Given the description of an element on the screen output the (x, y) to click on. 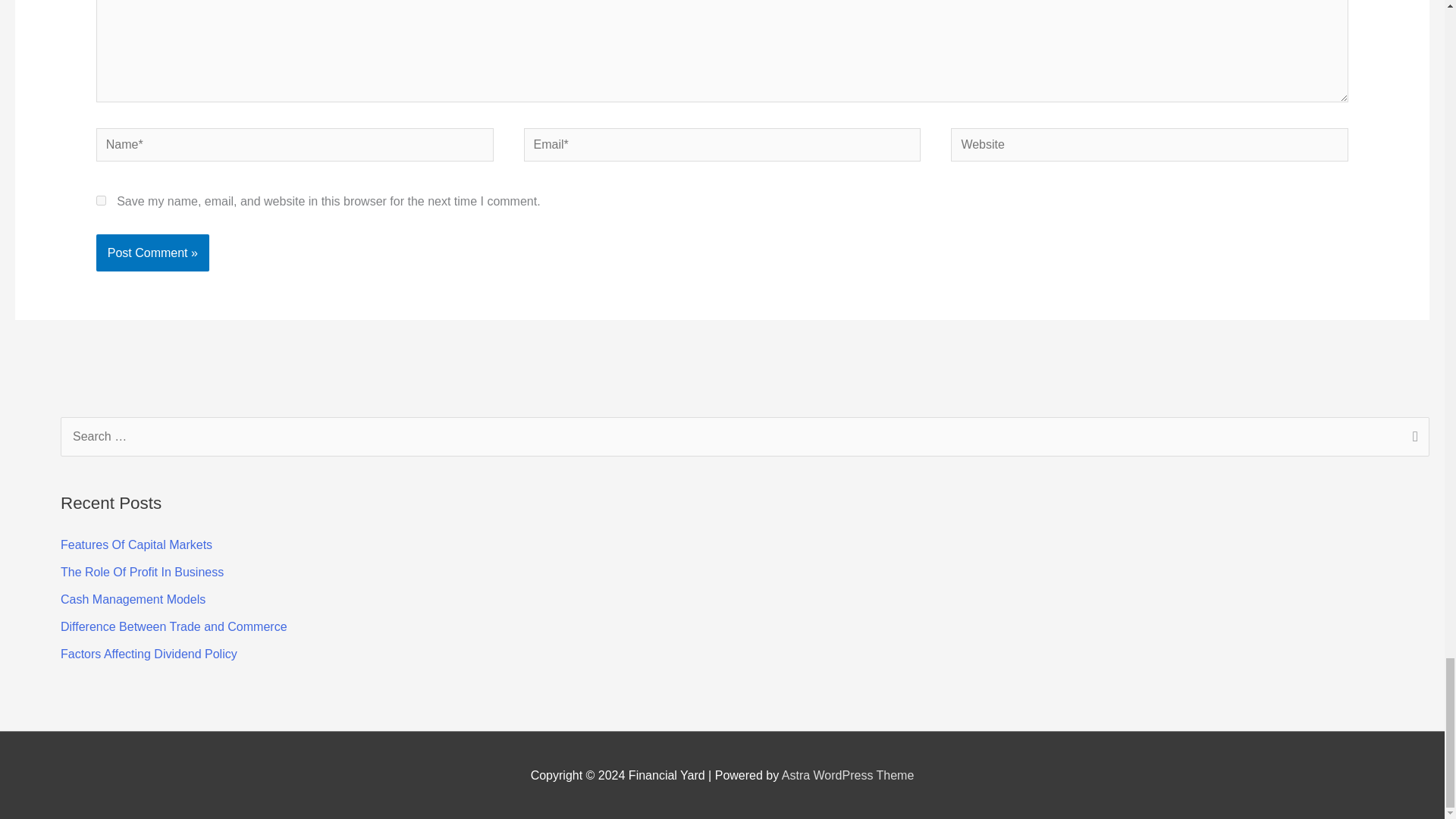
Astra WordPress Theme (847, 775)
Difference Between Trade and Commerce (173, 626)
yes (101, 200)
Features Of Capital Markets (136, 544)
Factors Affecting Dividend Policy (149, 653)
The Role Of Profit In Business (142, 571)
Cash Management Models (133, 599)
